Given the description of an element on the screen output the (x, y) to click on. 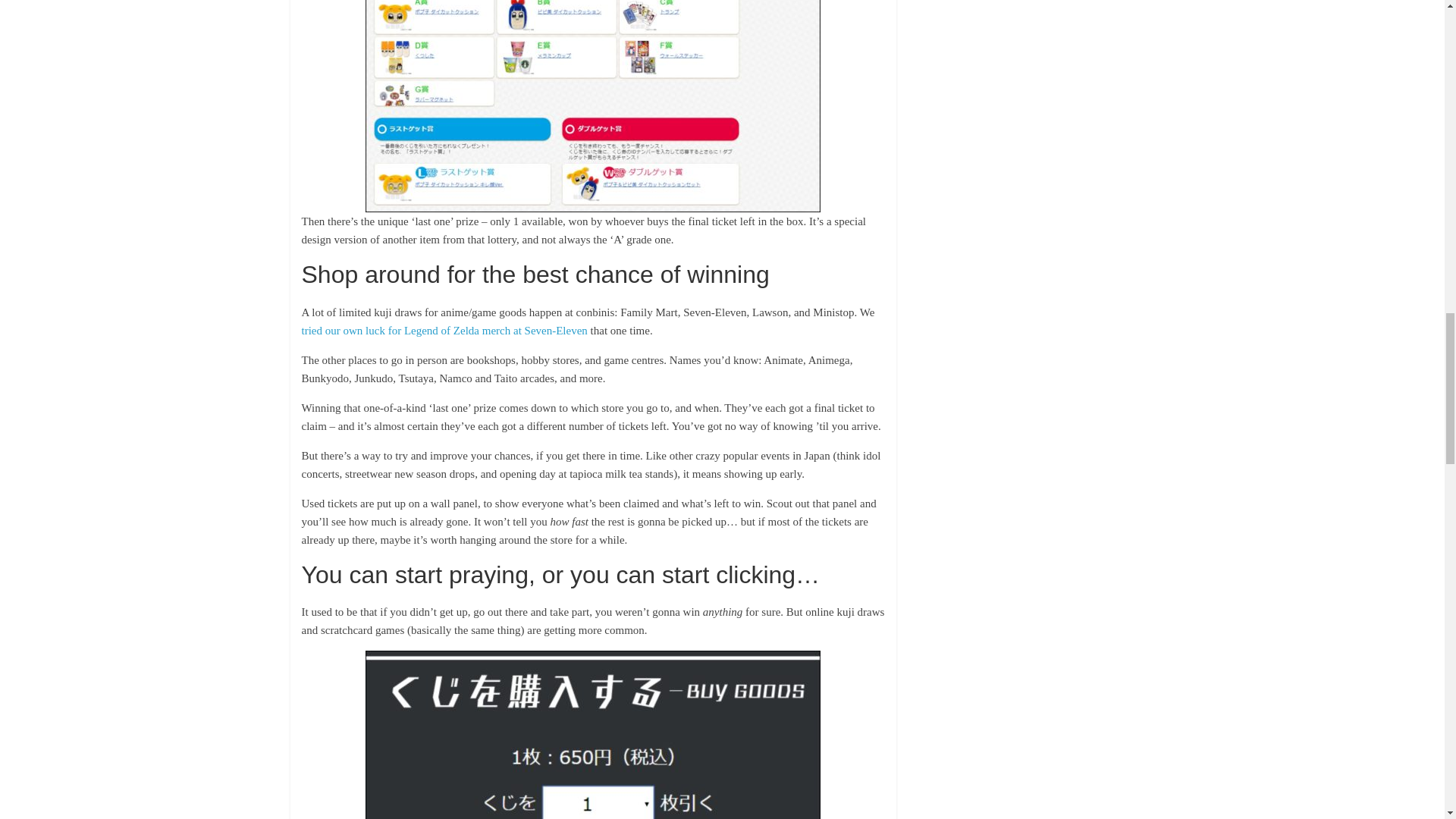
tried our own luck for Legend of Zelda merch at Seven-Eleven (444, 330)
